Given the description of an element on the screen output the (x, y) to click on. 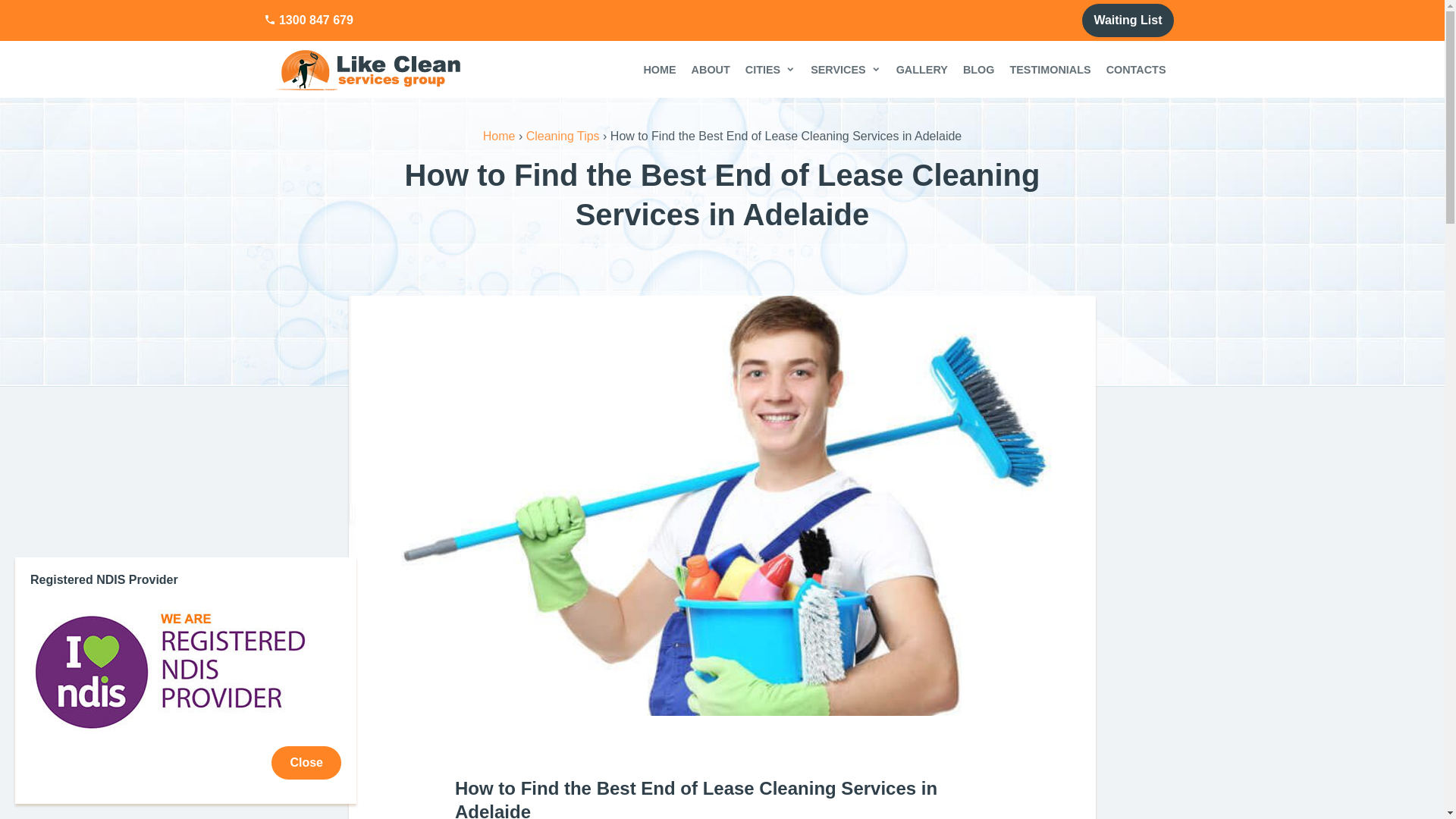
TESTIMONIALS Element type: text (1049, 68)
HOME Element type: text (659, 68)
BLOG Element type: text (978, 68)
Home Element type: text (499, 135)
CITIES Element type: text (770, 68)
CONTACTS Element type: text (1135, 68)
Waiting List Element type: text (1127, 20)
GALLERY Element type: text (921, 68)
ABOUT Element type: text (710, 68)
Close Element type: text (306, 762)
Cleaning Tips Element type: text (562, 135)
1300 847 679 Element type: text (308, 20)
SERVICES Element type: text (845, 68)
